Given the description of an element on the screen output the (x, y) to click on. 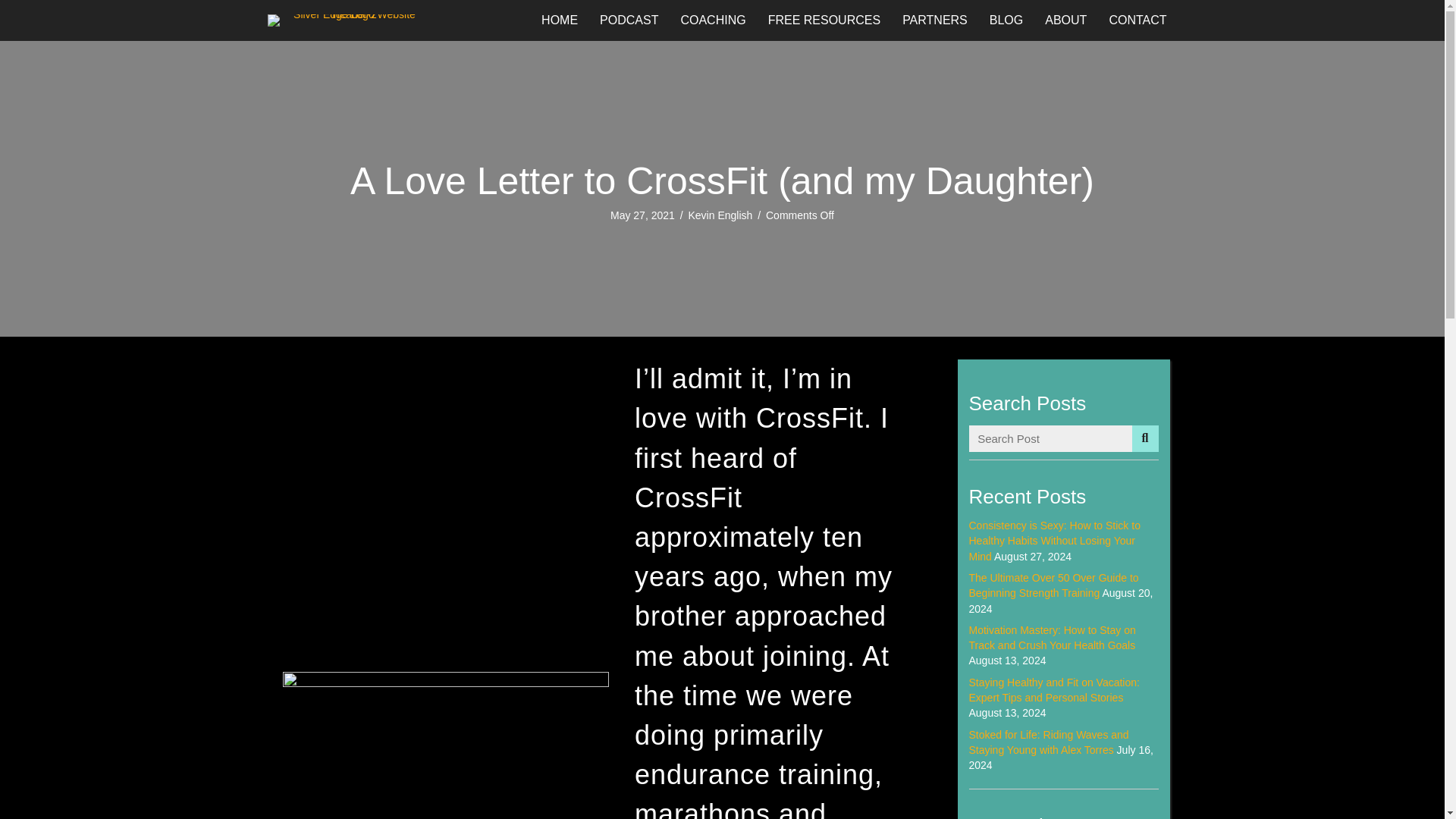
Search (1050, 438)
HOME (559, 20)
Kevin English (720, 215)
Silver Edge Logo Website Header-2 (347, 20)
ABOUT (1065, 20)
BLOG (1005, 20)
PARTNERS (934, 20)
COACHING (712, 20)
